Given the description of an element on the screen output the (x, y) to click on. 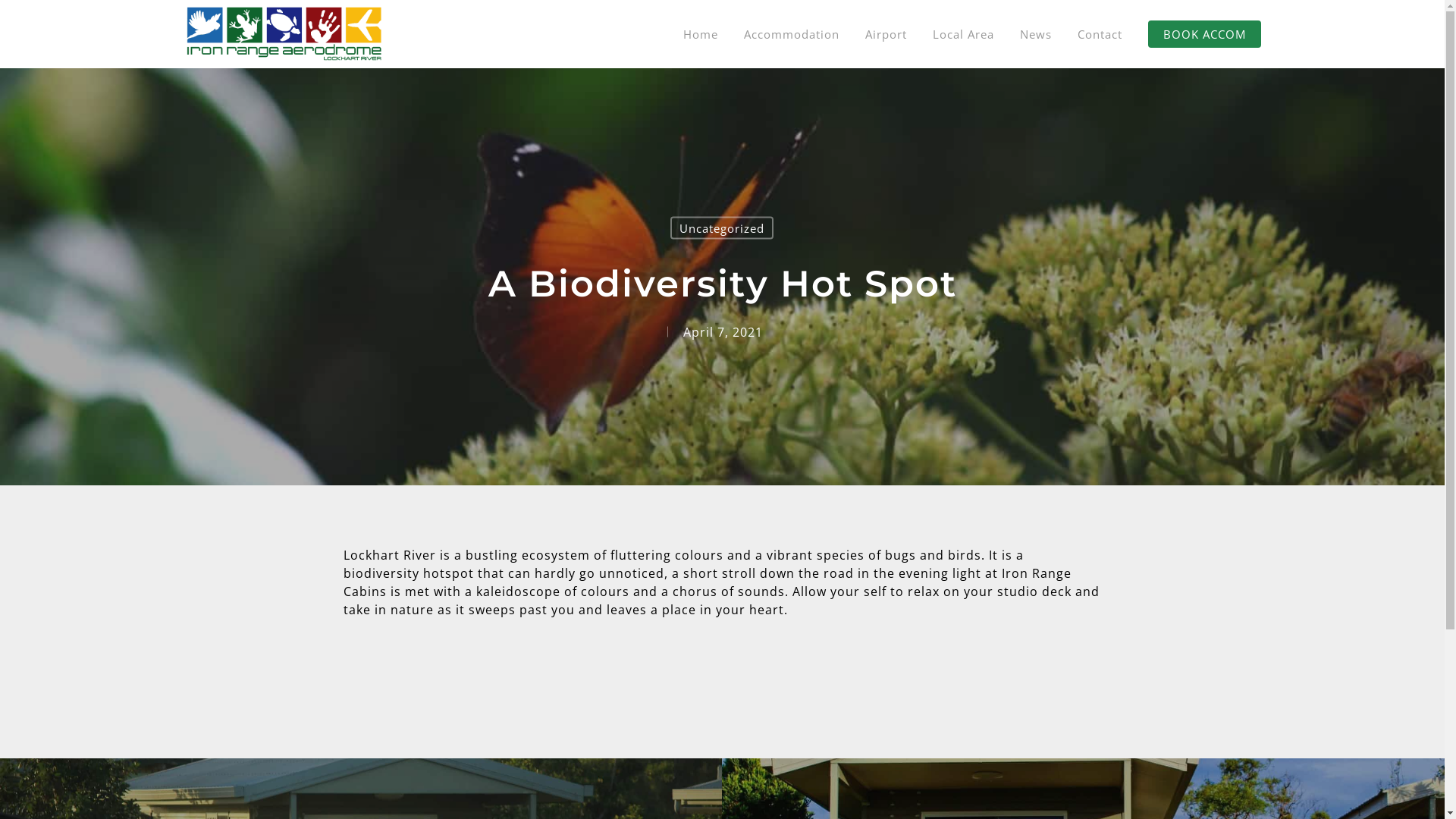
Contact Element type: text (1099, 34)
Local Area Element type: text (962, 34)
News Element type: text (1035, 34)
Accommodation Element type: text (791, 34)
BOOK ACCOM Element type: text (1204, 34)
Airport Element type: text (885, 34)
Home Element type: text (700, 34)
Uncategorized Element type: text (721, 227)
